Given the description of an element on the screen output the (x, y) to click on. 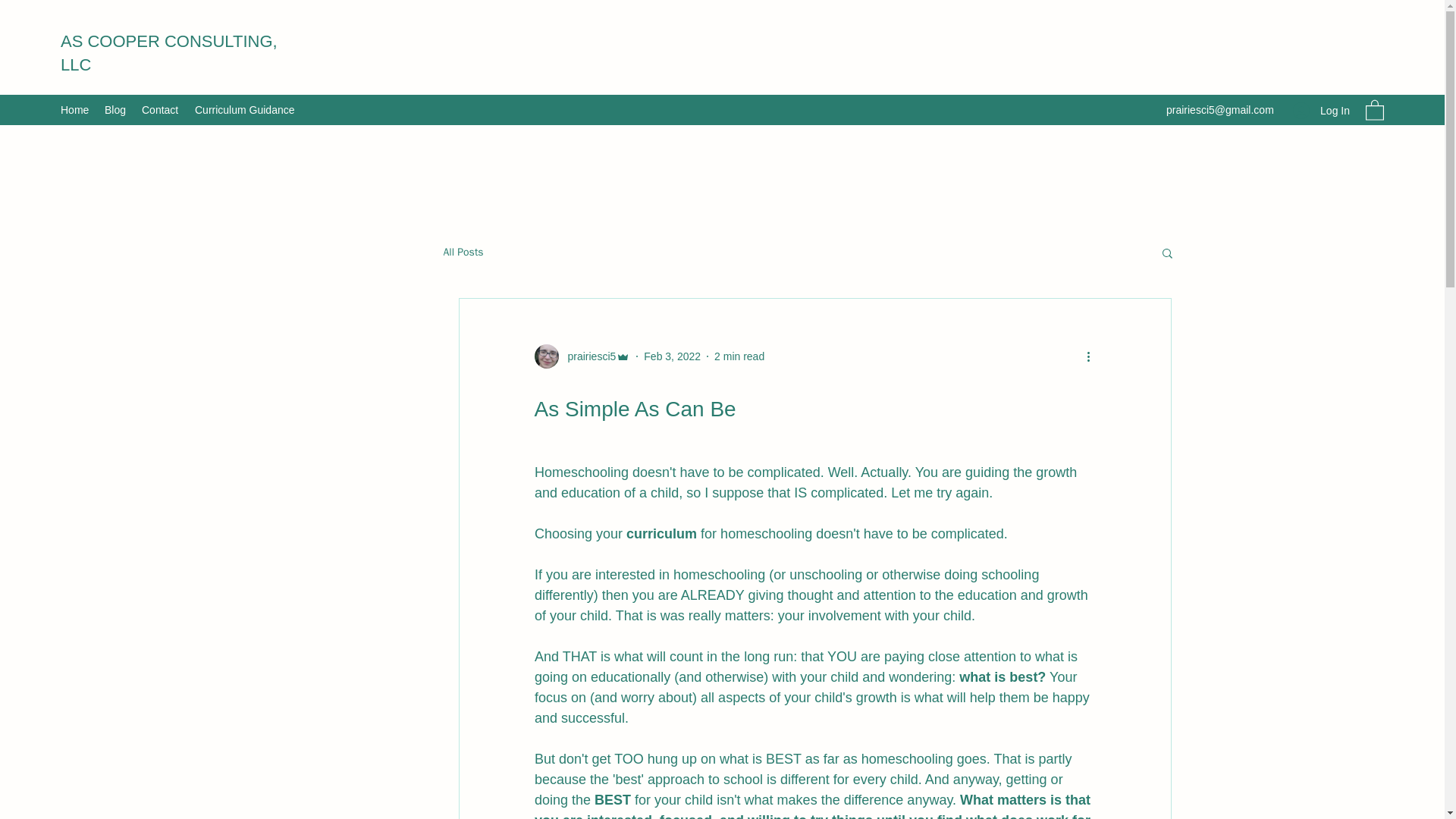
prairiesci5 (582, 355)
2 min read (739, 356)
Curriculum Guidance (245, 109)
AS COOPER CONSULTING, LLC (169, 52)
Feb 3, 2022 (671, 356)
Blog (115, 109)
prairiesci5 (586, 356)
Contact (160, 109)
All Posts (462, 252)
Home (74, 109)
